Given the description of an element on the screen output the (x, y) to click on. 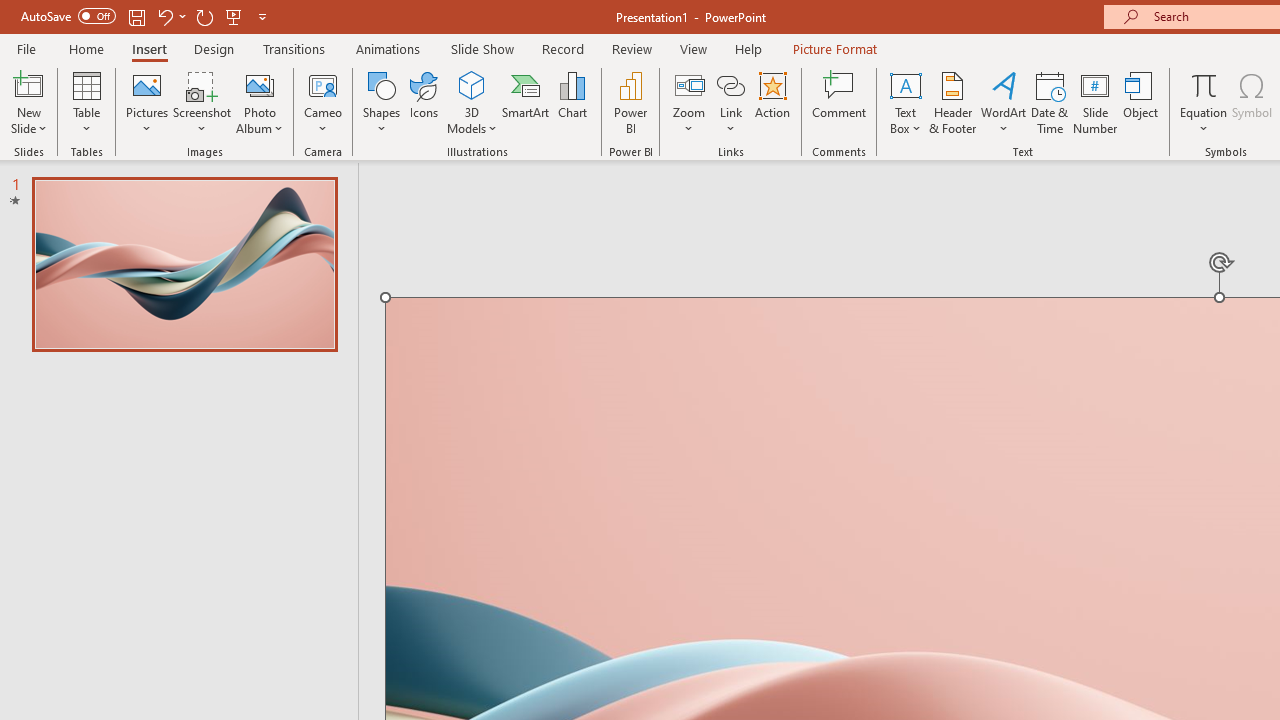
Action (772, 102)
Power BI (630, 102)
Draw Horizontal Text Box (905, 84)
Chart... (572, 102)
New Photo Album... (259, 84)
